Given the description of an element on the screen output the (x, y) to click on. 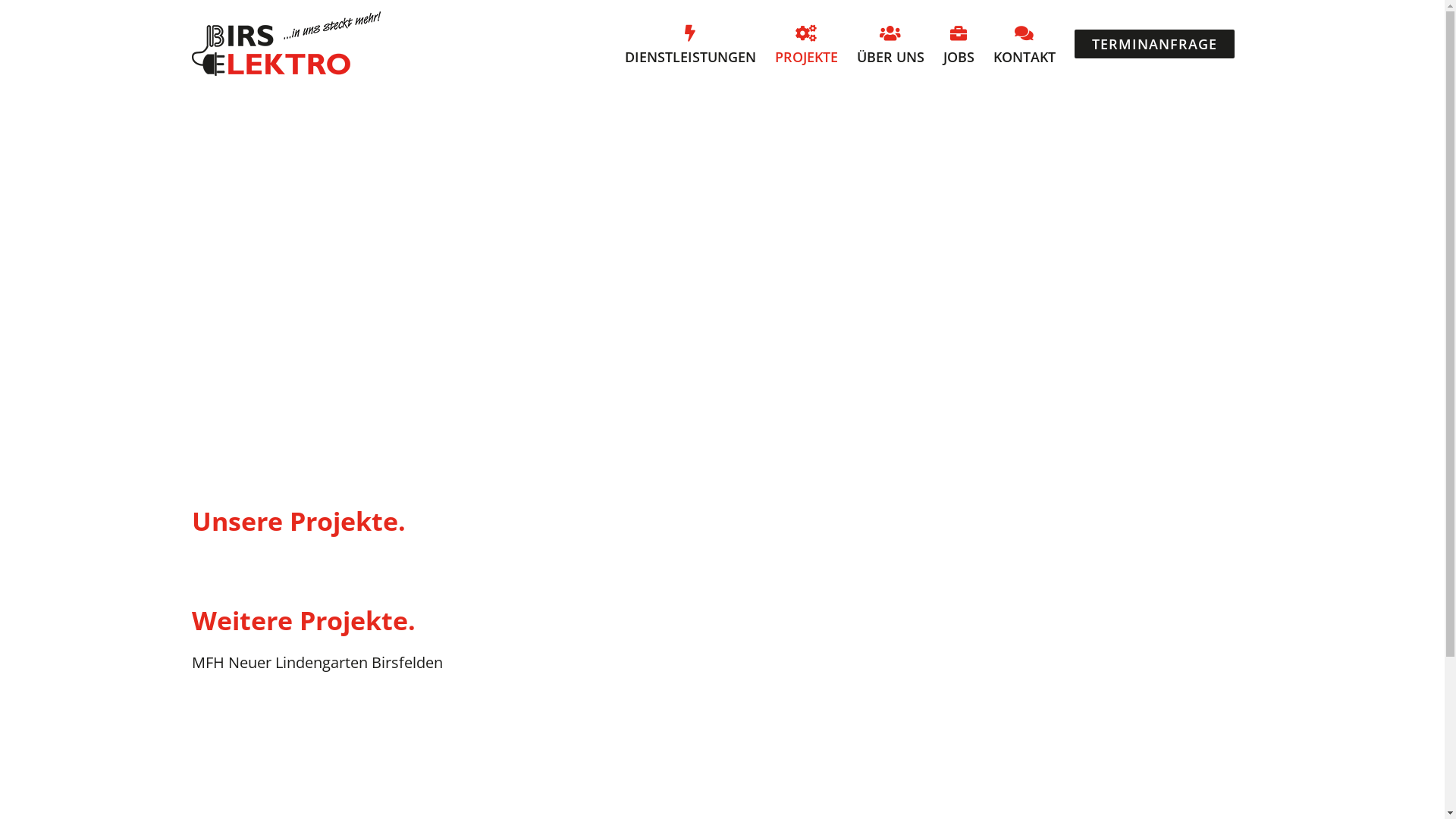
JOBS Element type: text (958, 43)
TERMINANFRAGE Element type: text (1153, 43)
DIENSTLEISTUNGEN Element type: text (690, 43)
KONTAKT Element type: text (1024, 43)
PROJEKTE Element type: text (806, 43)
MFH Neuer Lindengarten Birsfelden Element type: text (316, 662)
